Given the description of an element on the screen output the (x, y) to click on. 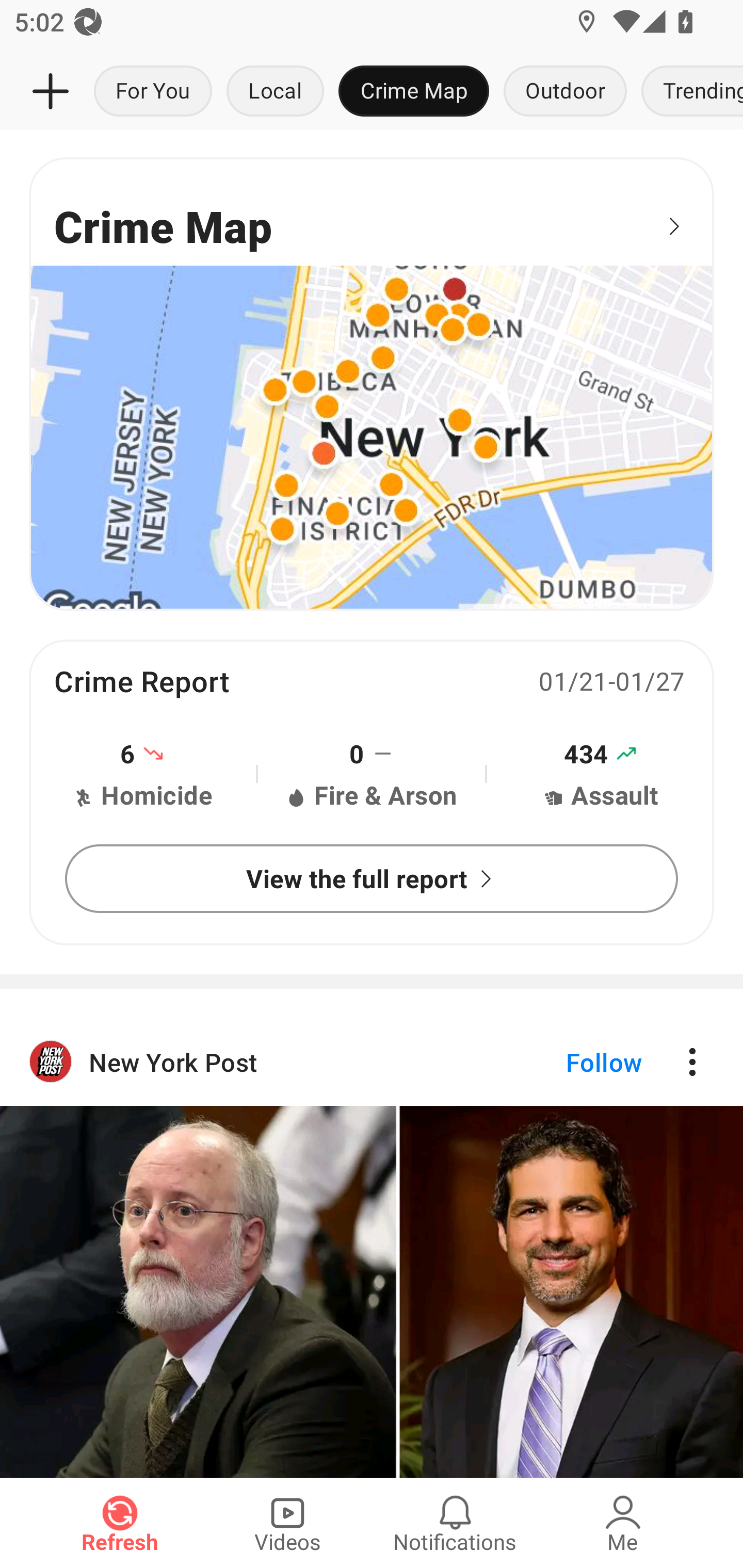
For You (152, 91)
Local (275, 91)
Crime Map (413, 91)
Outdoor (564, 91)
Trending (688, 91)
Crime Map (371, 382)
View the full report (371, 877)
New York Post Follow (371, 1247)
New York Post Follow (371, 1061)
Follow (569, 1061)
Videos (287, 1522)
Notifications (455, 1522)
Me (622, 1522)
